Given the description of an element on the screen output the (x, y) to click on. 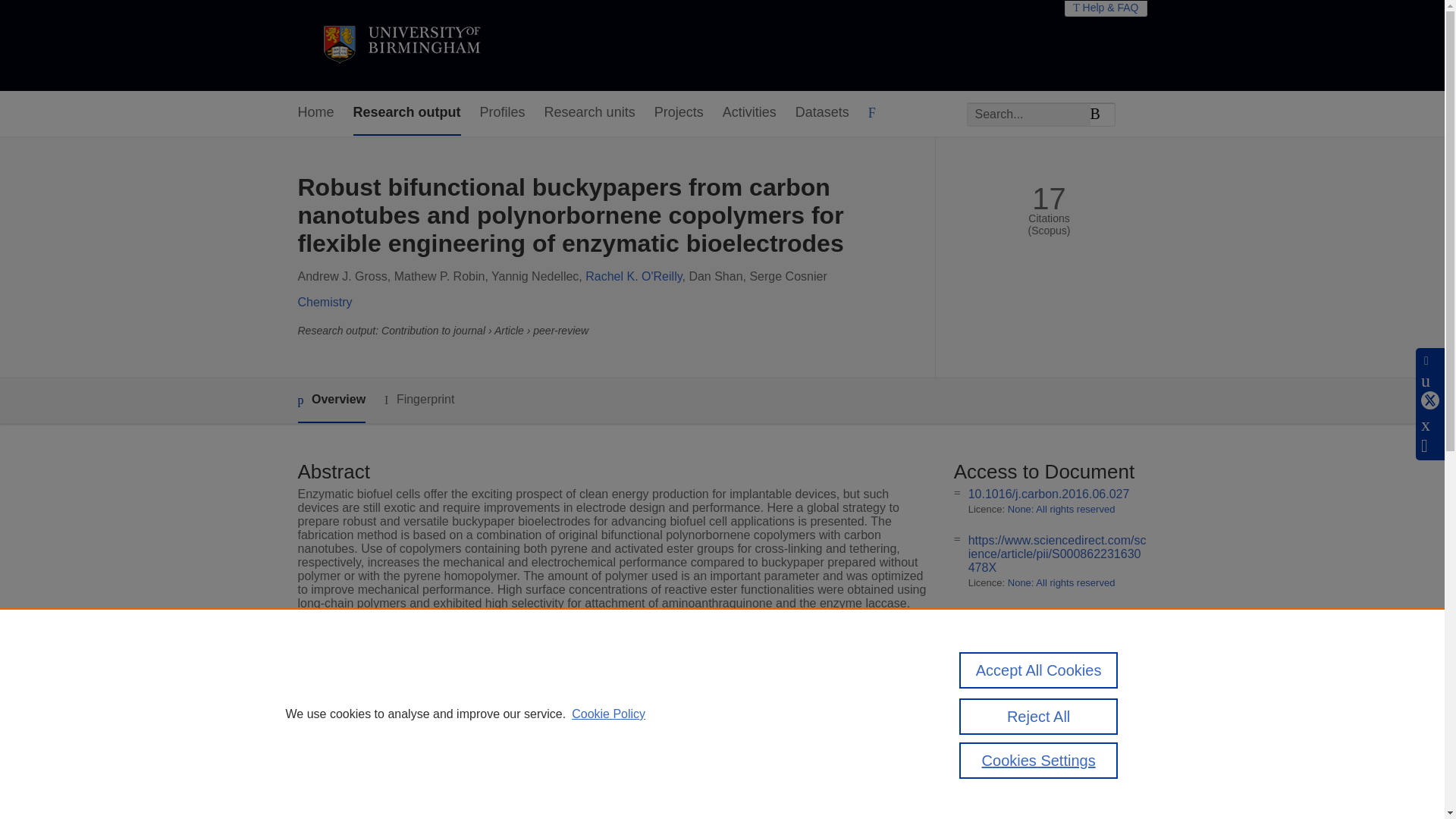
Fingerprint (419, 399)
Projects (678, 112)
Chemistry (324, 301)
Research units (589, 112)
University of Birmingham Home (401, 45)
Activities (749, 112)
Profiles (502, 112)
Overview (331, 400)
Rachel K. O'Reilly (633, 276)
